Given the description of an element on the screen output the (x, y) to click on. 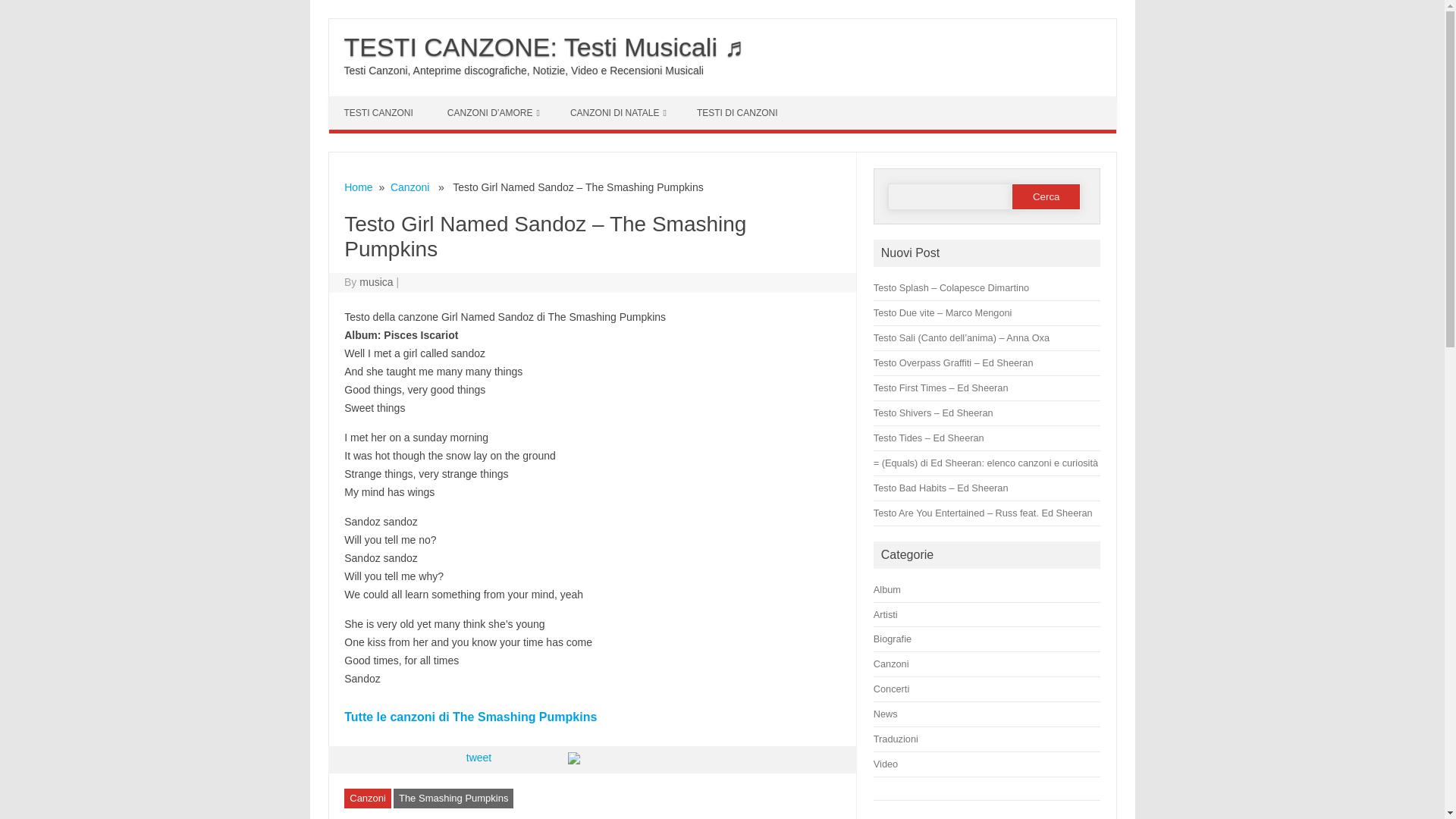
musica (376, 282)
Biografie (892, 638)
Cerca (1045, 196)
Tutte le canzoni di The Smashing Pumpkins (469, 716)
Canzoni (367, 798)
Cerca (1045, 196)
Testi Canzoni (380, 112)
Articoli scritti da musica (376, 282)
Canzoni (890, 663)
Traduzioni (895, 738)
